Given the description of an element on the screen output the (x, y) to click on. 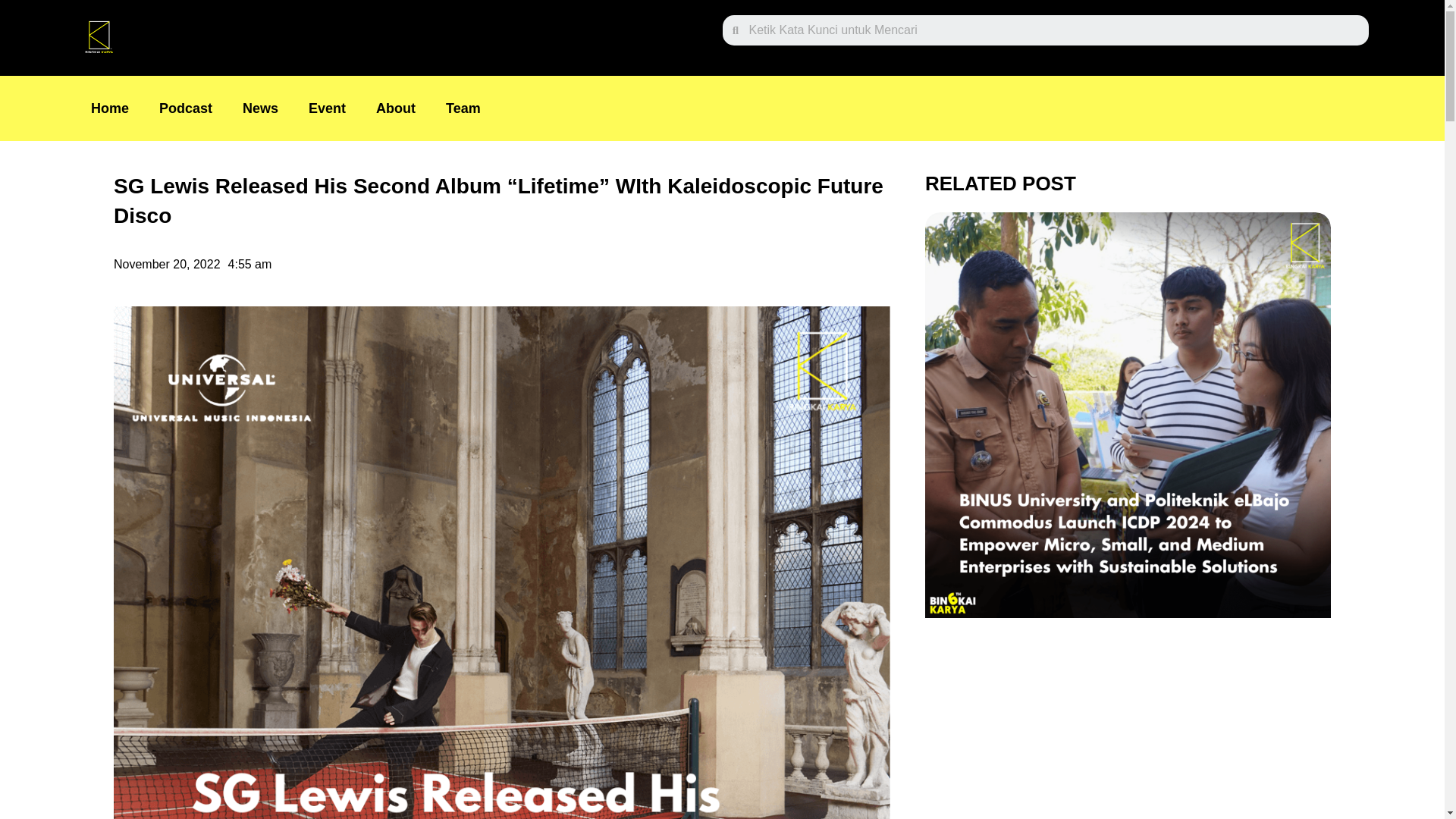
News (260, 108)
Bingkai Karya Logo (97, 37)
Home (109, 108)
About (395, 108)
Podcast (185, 108)
Event (327, 108)
Search (1053, 30)
Team (463, 108)
